Given the description of an element on the screen output the (x, y) to click on. 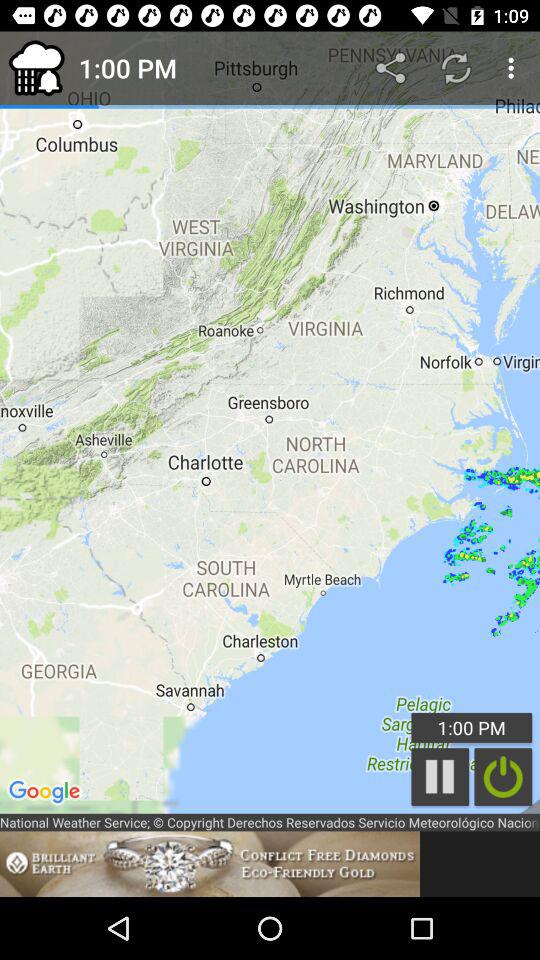
open the advertisement (210, 864)
